Given the description of an element on the screen output the (x, y) to click on. 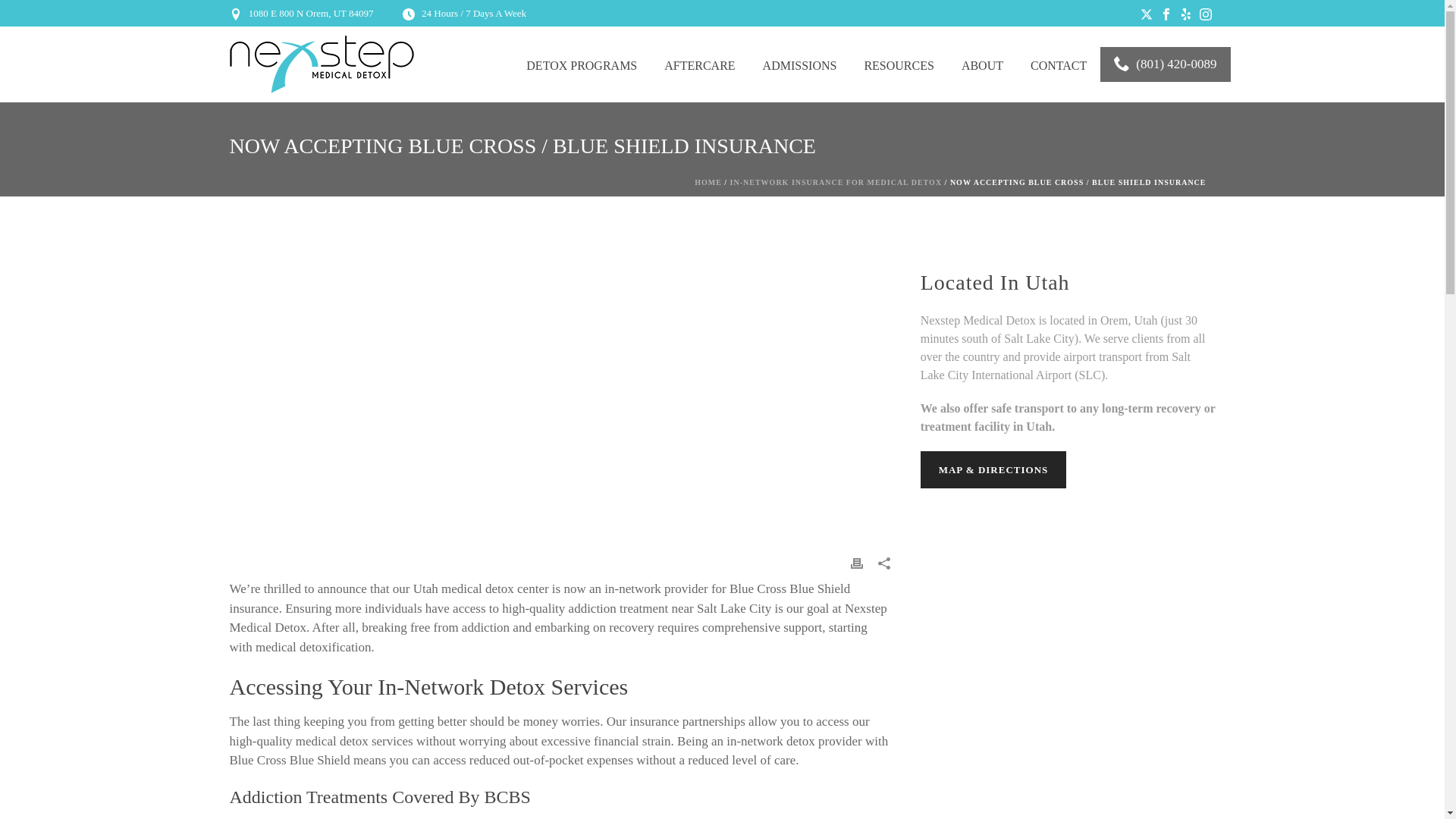
1080 E 800 N Orem, UT 84097 (311, 12)
ABOUT (981, 64)
CONTACT (1058, 64)
ABOUT (981, 64)
CONTACT (1058, 64)
AFTERCARE (699, 64)
DETOX PROGRAMS (581, 64)
AFTERCARE (699, 64)
RESOURCES (898, 64)
RESOURCES (898, 64)
